Given the description of an element on the screen output the (x, y) to click on. 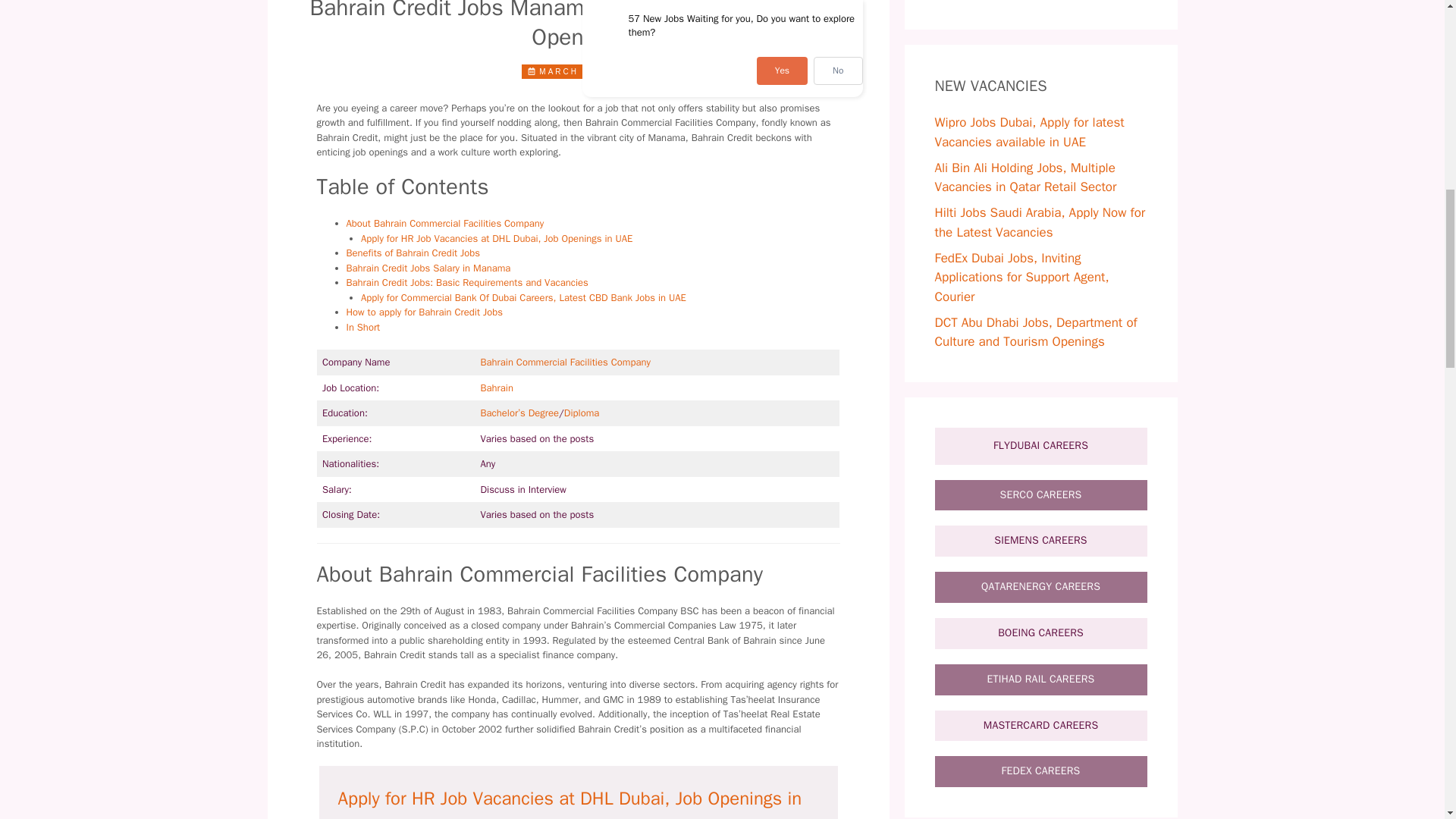
About Bahrain Commercial Facilities Company (444, 223)
Bahrain Credit Jobs Salary in Manama (428, 267)
Diploma (581, 412)
Apply for HR Job Vacancies at DHL Dubai, Job Openings in UAE (569, 803)
Bahrain (496, 387)
Apply for HR Job Vacancies at DHL Dubai, Job Openings in UAE (496, 237)
In Short (363, 327)
Bahrain Credit Jobs: Basic Requirements and Vacancies (467, 282)
Bahrain Commercial Facilities Company (565, 361)
Benefits of Bahrain Credit Jobs (413, 252)
Scroll back to top (1406, 720)
How to apply for Bahrain Credit Jobs (424, 311)
